Given the description of an element on the screen output the (x, y) to click on. 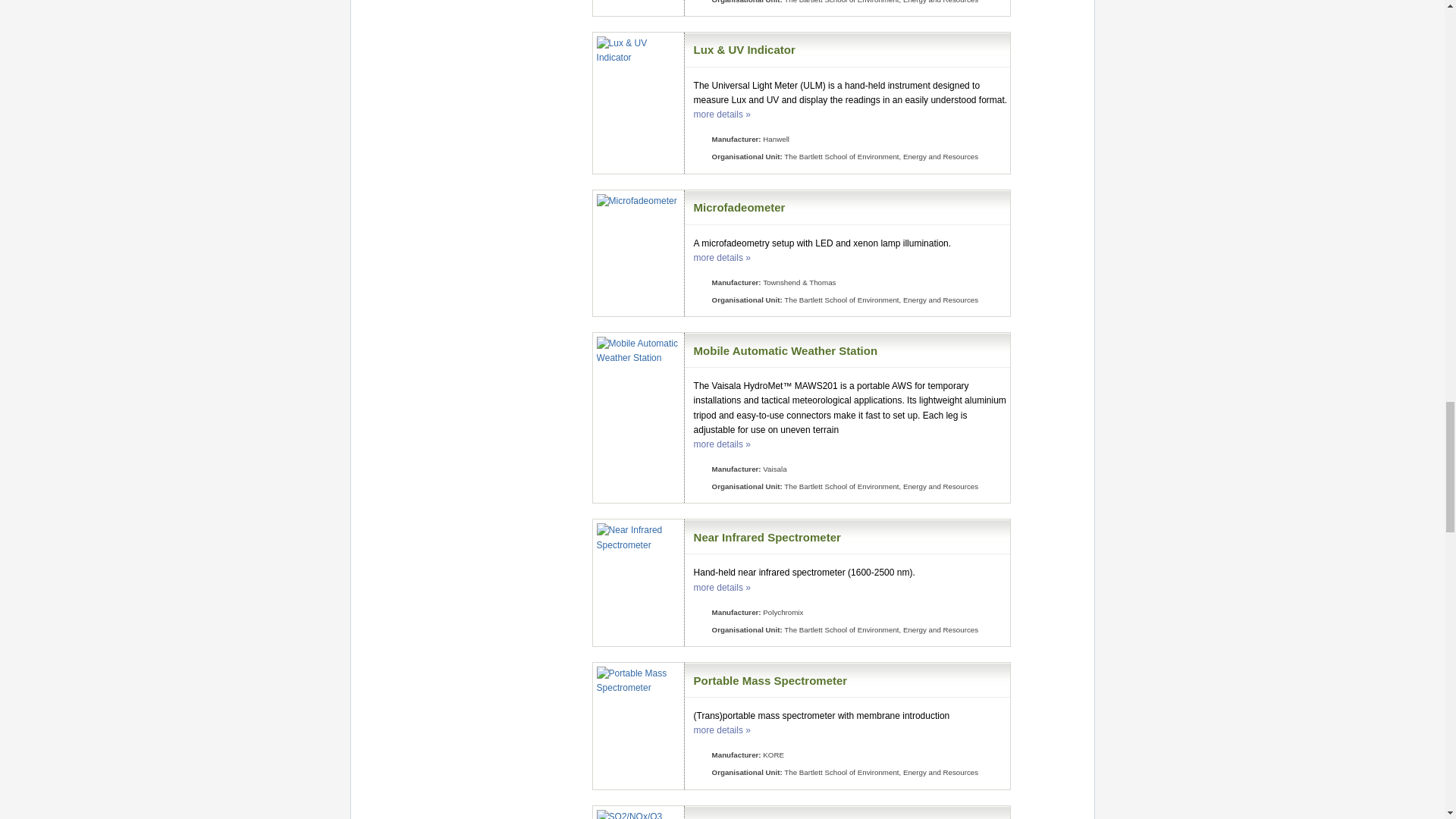
Microfadeometer (740, 206)
Mobile Automatic Weather Station (785, 350)
Near Infrared Spectrometer (767, 536)
Portable Mass Spectrometer (770, 679)
